Given the description of an element on the screen output the (x, y) to click on. 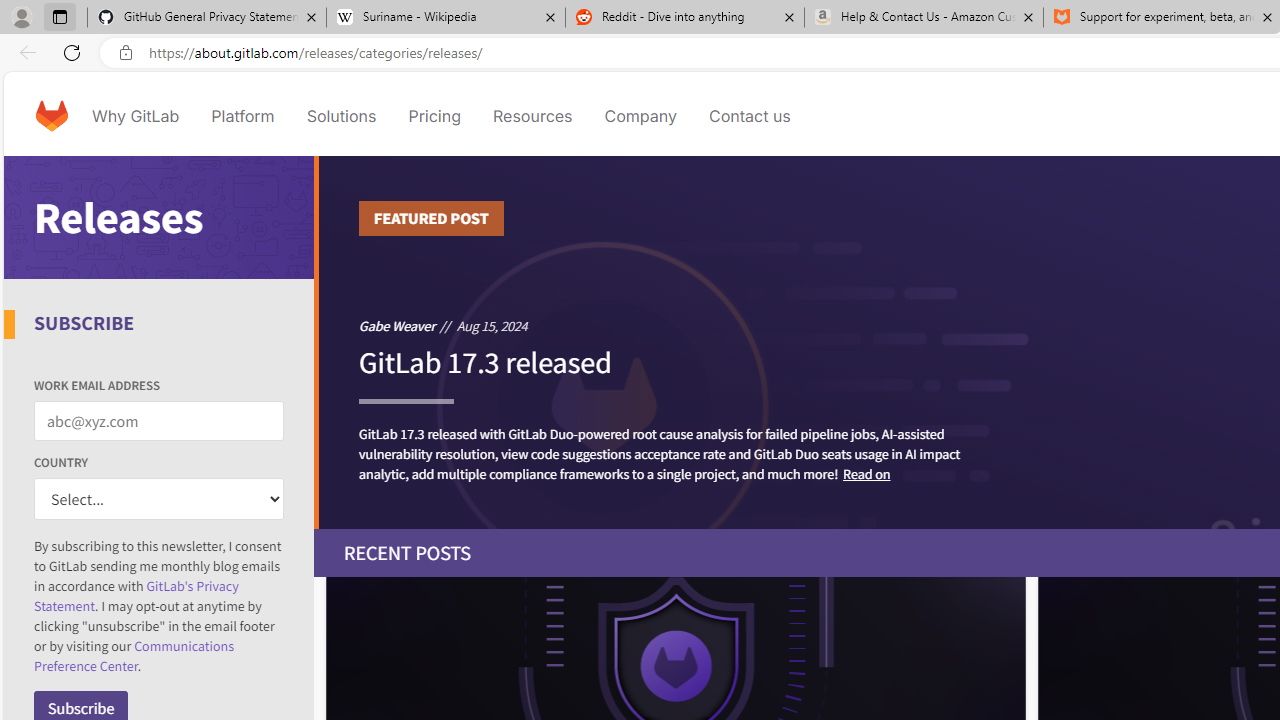
GitLab home page (51, 115)
Company (640, 115)
Reddit - Dive into anything (684, 17)
Help & Contact Us - Amazon Customer Service - Sleeping (924, 17)
Platform (242, 115)
Pricing (433, 115)
Pricing (433, 115)
GitLab 17.3 released (484, 371)
Read on (866, 472)
Communications Preference Center (134, 656)
Contact us (749, 115)
